Given the description of an element on the screen output the (x, y) to click on. 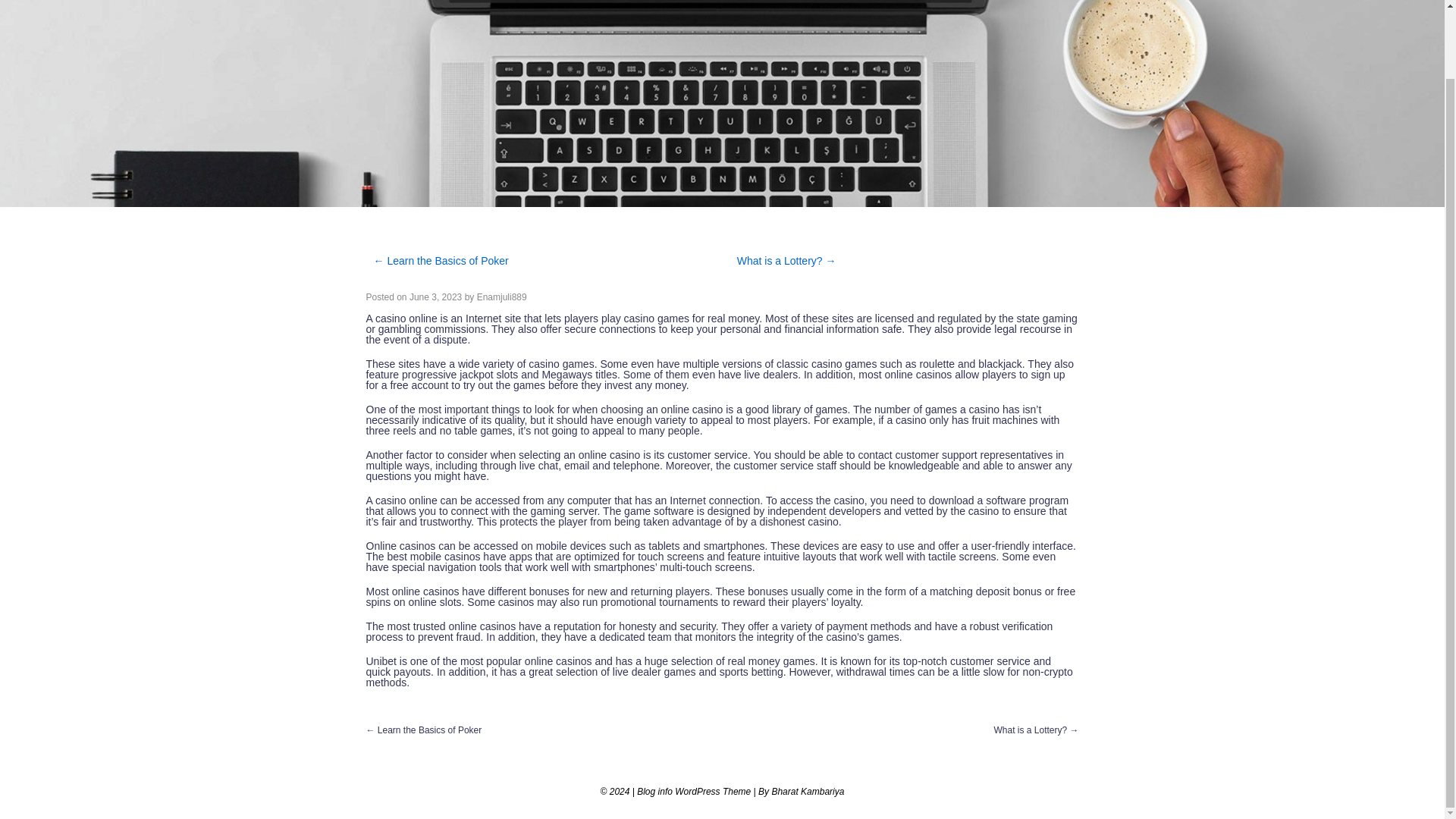
View all posts by Enamjuli889 (502, 296)
Enamjuli889 (502, 296)
June 3, 2023 (435, 296)
12:05 am (435, 296)
